Given the description of an element on the screen output the (x, y) to click on. 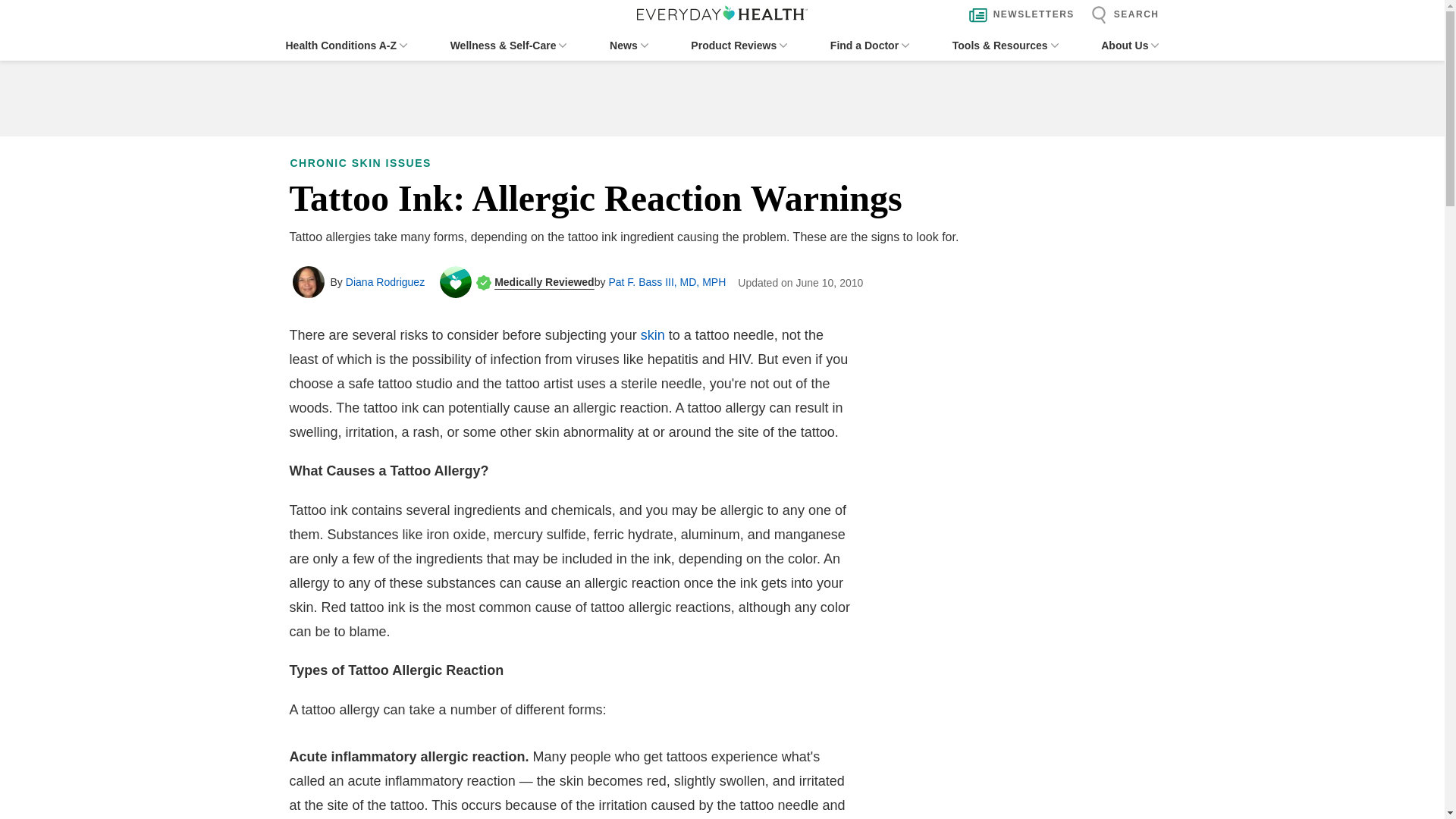
Find a Doctor (868, 45)
Product Reviews (738, 45)
About Us (1129, 45)
Health Conditions A-Z (345, 45)
NEWSLETTERS (1018, 15)
News (628, 45)
SEARCH (1120, 15)
